Given the description of an element on the screen output the (x, y) to click on. 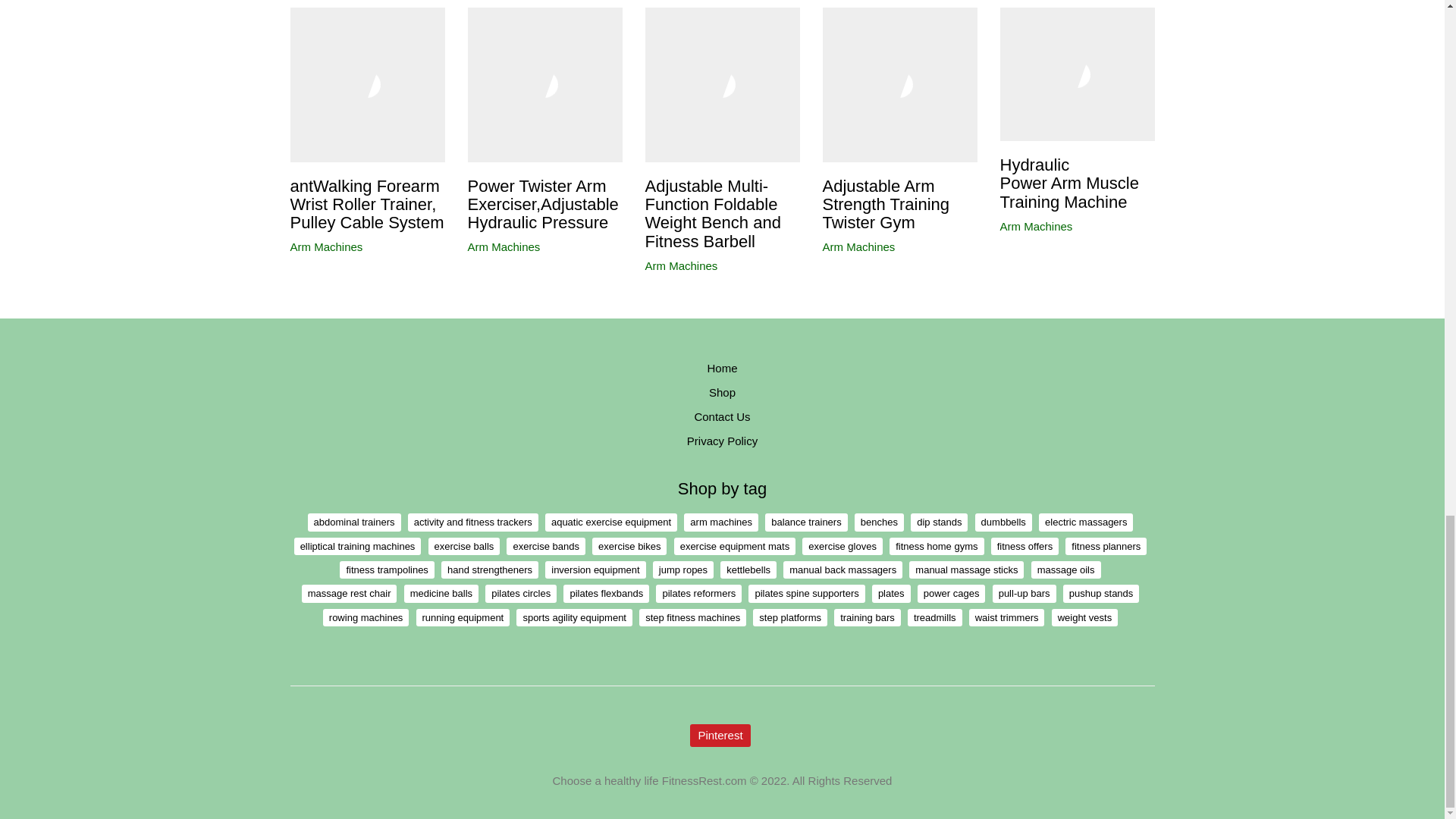
Pinterest (719, 734)
